Given the description of an element on the screen output the (x, y) to click on. 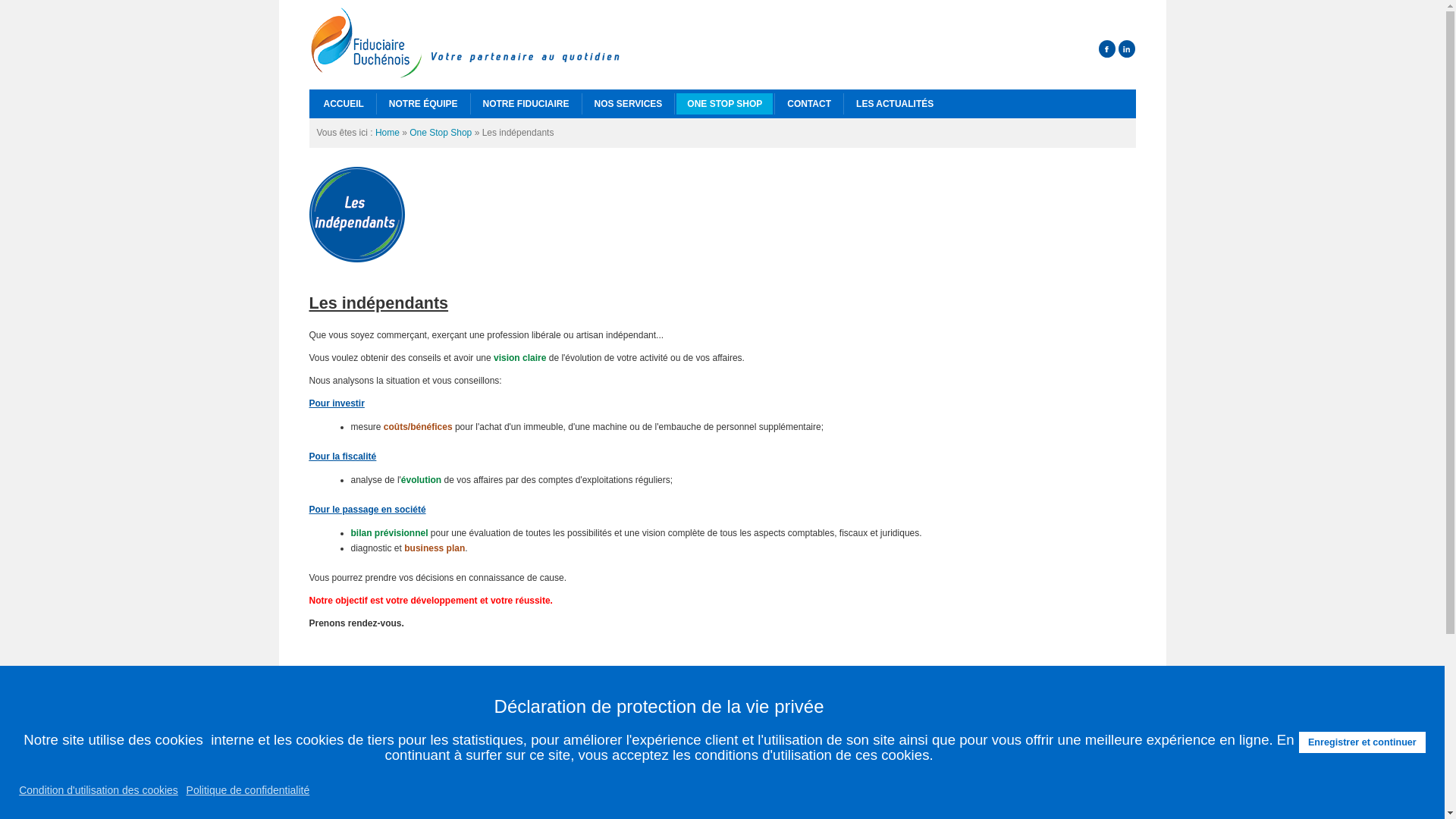
Home Element type: text (387, 132)
CONTACT Element type: text (808, 103)
Facebook Element type: text (1106, 48)
NOTRE FIDUCIAIRE Element type: text (526, 103)
Condition d'utilisation des cookies Element type: text (98, 789)
ACCUEIL Element type: text (342, 103)
Linkedin Element type: text (1126, 48)
One Stop Shop Element type: text (440, 132)
Enregistrer et continuer Element type: text (1362, 742)
